Given the description of an element on the screen output the (x, y) to click on. 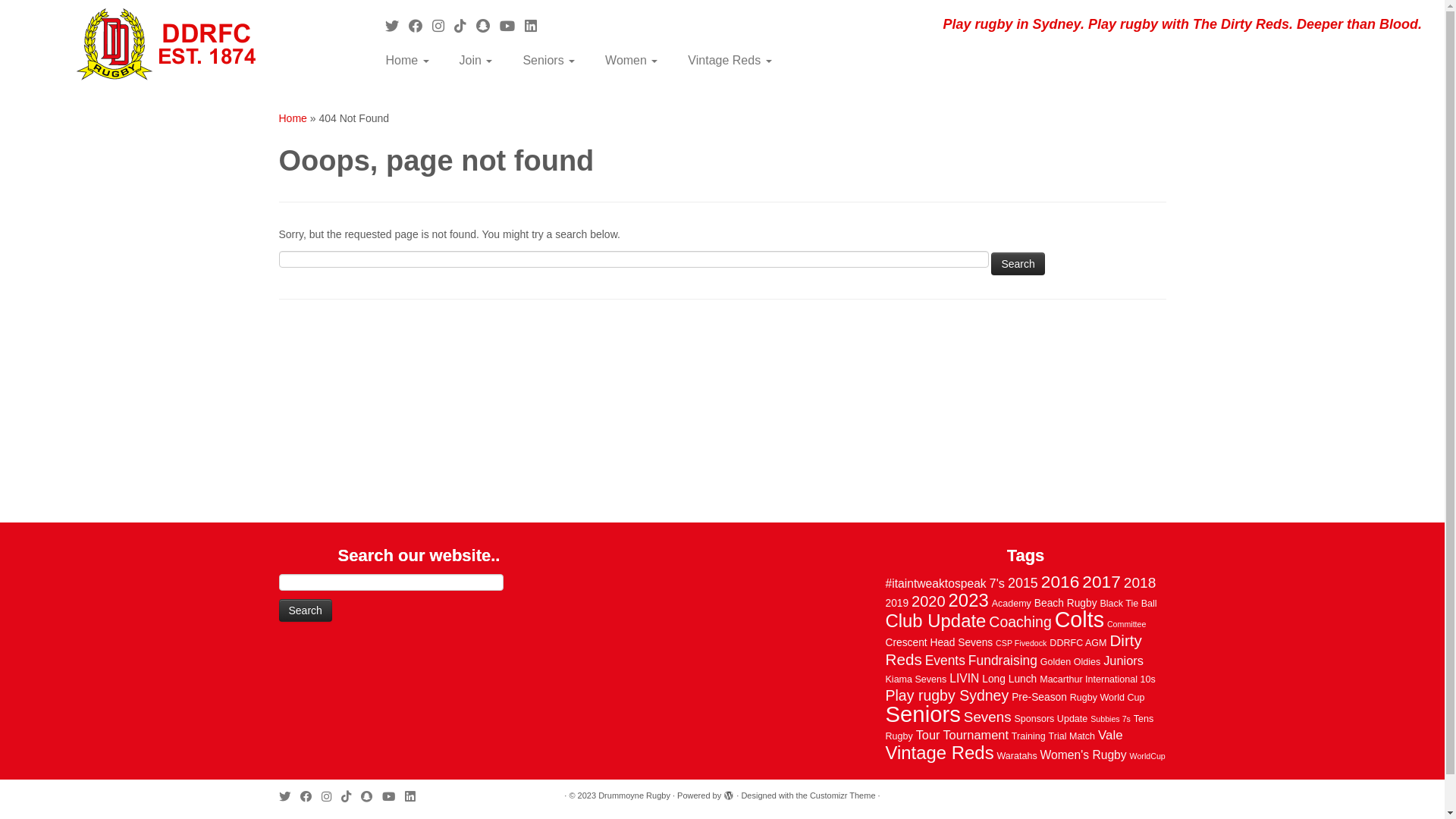
Subbies 7s Element type: text (1110, 718)
Follow me on Facebook Element type: hover (310, 796)
Home Element type: text (293, 118)
Colts Element type: text (1079, 619)
Kiama Sevens Element type: text (916, 679)
2020 Element type: text (928, 601)
Golden Oldies Element type: text (1070, 661)
Committee Element type: text (1126, 623)
Play rugby Sydney Element type: text (947, 695)
Follow us on Youtube Element type: hover (393, 796)
Training Element type: text (1028, 736)
2018 Element type: text (1139, 582)
Join Element type: text (476, 60)
Follow us on Snapchat Element type: hover (371, 796)
Vintage Reds Element type: text (939, 752)
Follow me on Instagram Element type: hover (331, 796)
CSP Fivedock Element type: text (1020, 642)
2017 Element type: text (1101, 581)
Seniors Element type: text (922, 713)
Sevens Element type: text (987, 716)
2015 Element type: text (1022, 582)
Home Element type: text (412, 60)
Pre-Season Element type: text (1038, 696)
Search Element type: text (1017, 262)
#itaintweaktospeak Element type: text (935, 583)
WorldCup Element type: text (1147, 755)
Events Element type: text (945, 660)
Vintage Reds Element type: text (721, 60)
LIVIN Element type: text (964, 677)
2023 Element type: text (968, 599)
2019 Element type: text (897, 602)
Academy Element type: text (1011, 603)
7's Element type: text (996, 582)
Women Element type: text (630, 60)
Follow us on Tiktok Element type: hover (465, 26)
Vale Element type: text (1110, 735)
Fundraising Element type: text (1002, 660)
Follow me on Twitter Element type: hover (396, 26)
Follow us on Tiktok Element type: hover (350, 796)
Follow me on Instagram Element type: hover (443, 26)
Tens Rugby Element type: text (1019, 727)
Long Lunch Element type: text (1009, 678)
Seniors Element type: text (548, 60)
Black Tie Ball Element type: text (1127, 603)
Search Element type: text (305, 610)
Women's Rugby Element type: text (1083, 754)
2016 Element type: text (1060, 581)
Follow me on Facebook Element type: hover (420, 26)
Drummoyne Rugby Element type: text (634, 795)
Coaching Element type: text (1019, 621)
Follow us on Youtube Element type: hover (511, 26)
Follow us on Snapchat Element type: hover (487, 26)
Rugby World Cup Element type: text (1107, 697)
Sponsors Update Element type: text (1050, 718)
Dirty Reds Element type: text (1013, 649)
Beach Rugby Element type: text (1065, 602)
Follow me on LinkedIn Element type: hover (535, 26)
Customizr Theme Element type: text (842, 795)
Tournament Element type: text (975, 734)
Crescent Head Sevens Element type: text (939, 642)
Trial Match Element type: text (1071, 736)
Club Update Element type: text (935, 620)
DDRFC AGM Element type: text (1077, 642)
Juniors Element type: text (1123, 660)
Tour Element type: text (928, 734)
Macarthur International 10s Element type: text (1097, 679)
Powered by WordPress Element type: hover (728, 792)
Follow me on Twitter Element type: hover (289, 796)
Follow me on LinkedIn Element type: hover (414, 796)
Waratahs Element type: text (1016, 755)
